Given the description of an element on the screen output the (x, y) to click on. 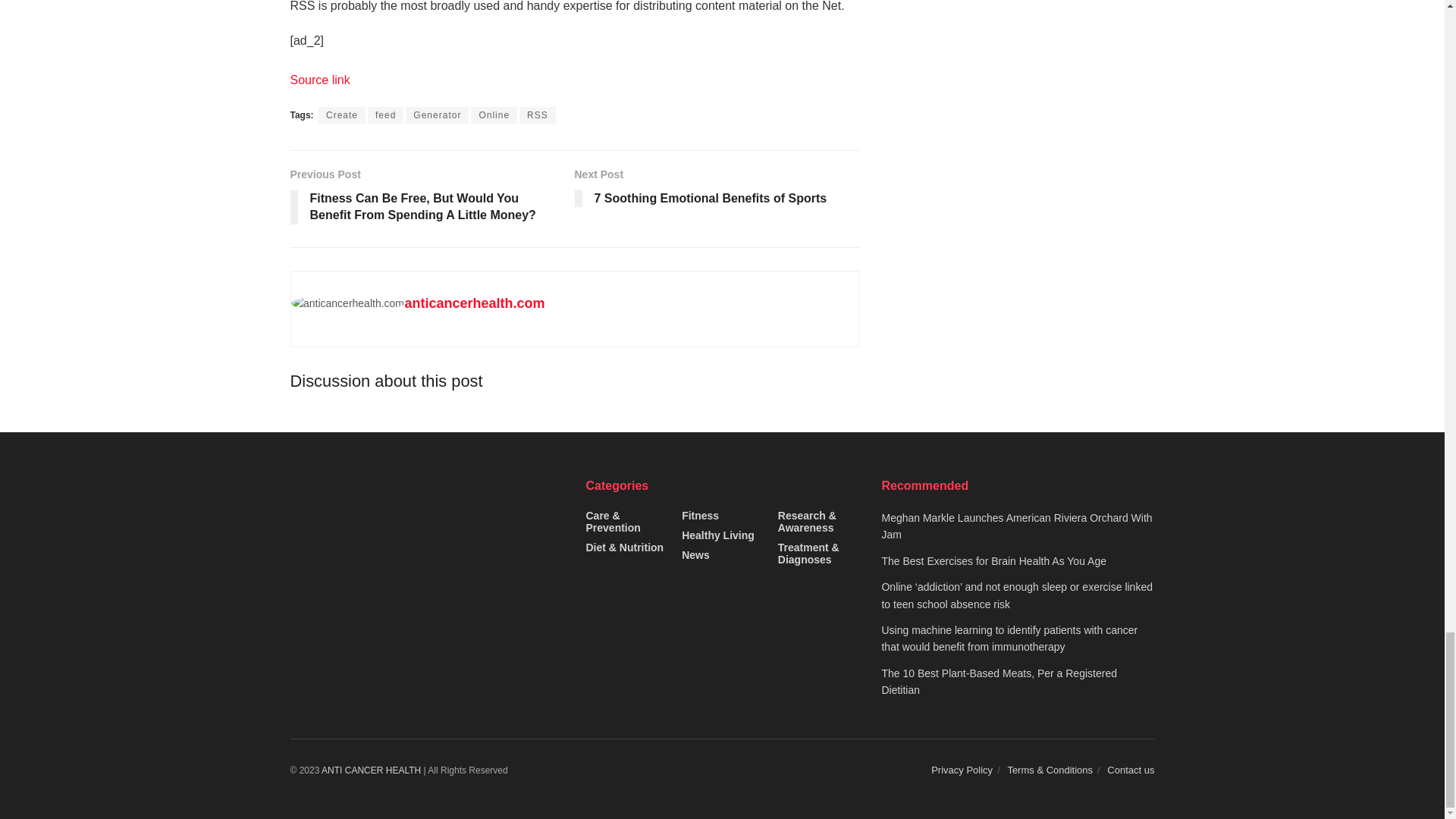
Premium news  (370, 769)
